Given the description of an element on the screen output the (x, y) to click on. 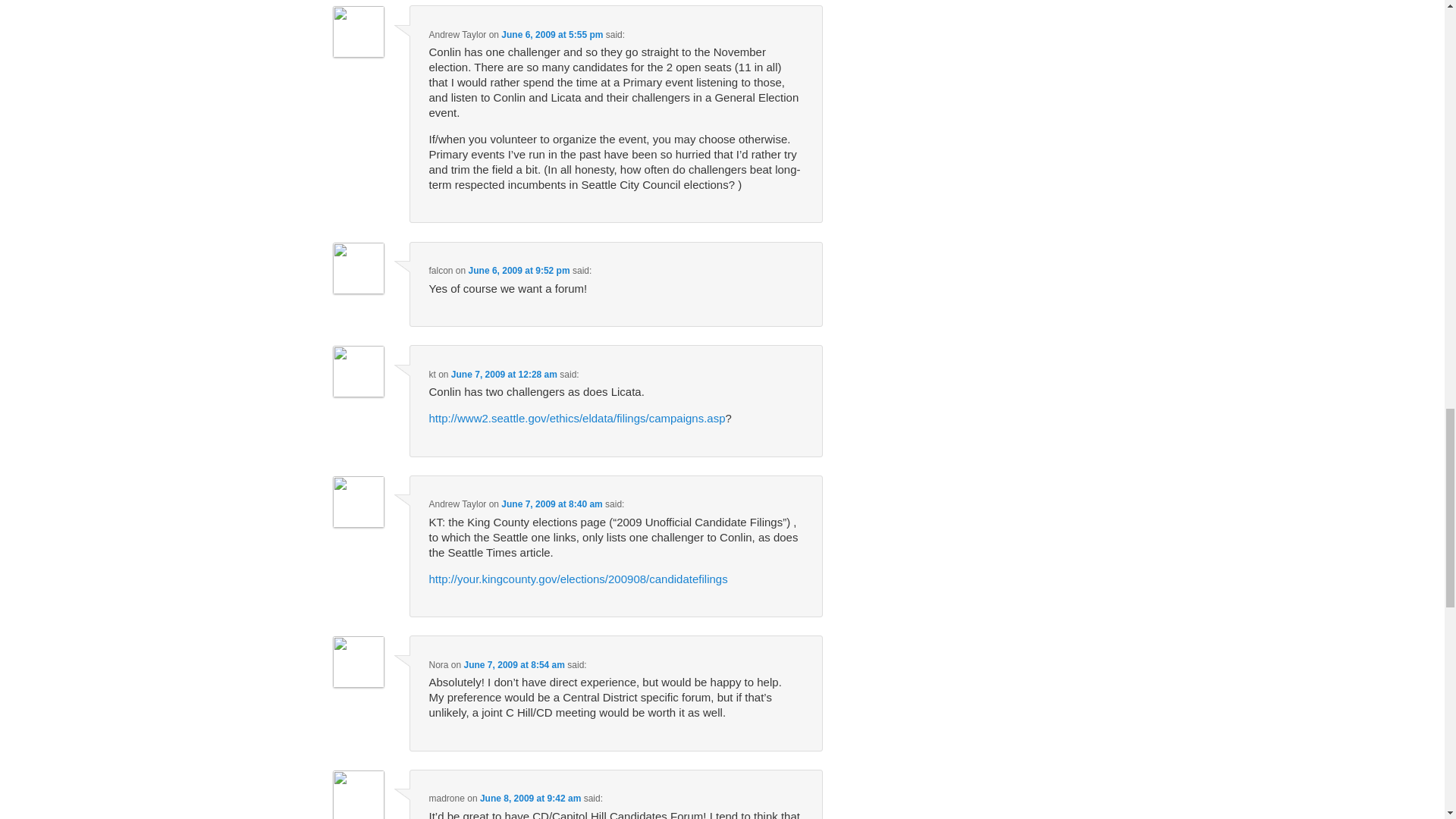
June 6, 2009 at 5:55 pm (551, 34)
June 7, 2009 at 8:54 am (514, 665)
June 7, 2009 at 12:28 am (504, 374)
June 8, 2009 at 9:42 am (530, 798)
June 7, 2009 at 8:40 am (551, 503)
June 6, 2009 at 9:52 pm (519, 270)
